Given the description of an element on the screen output the (x, y) to click on. 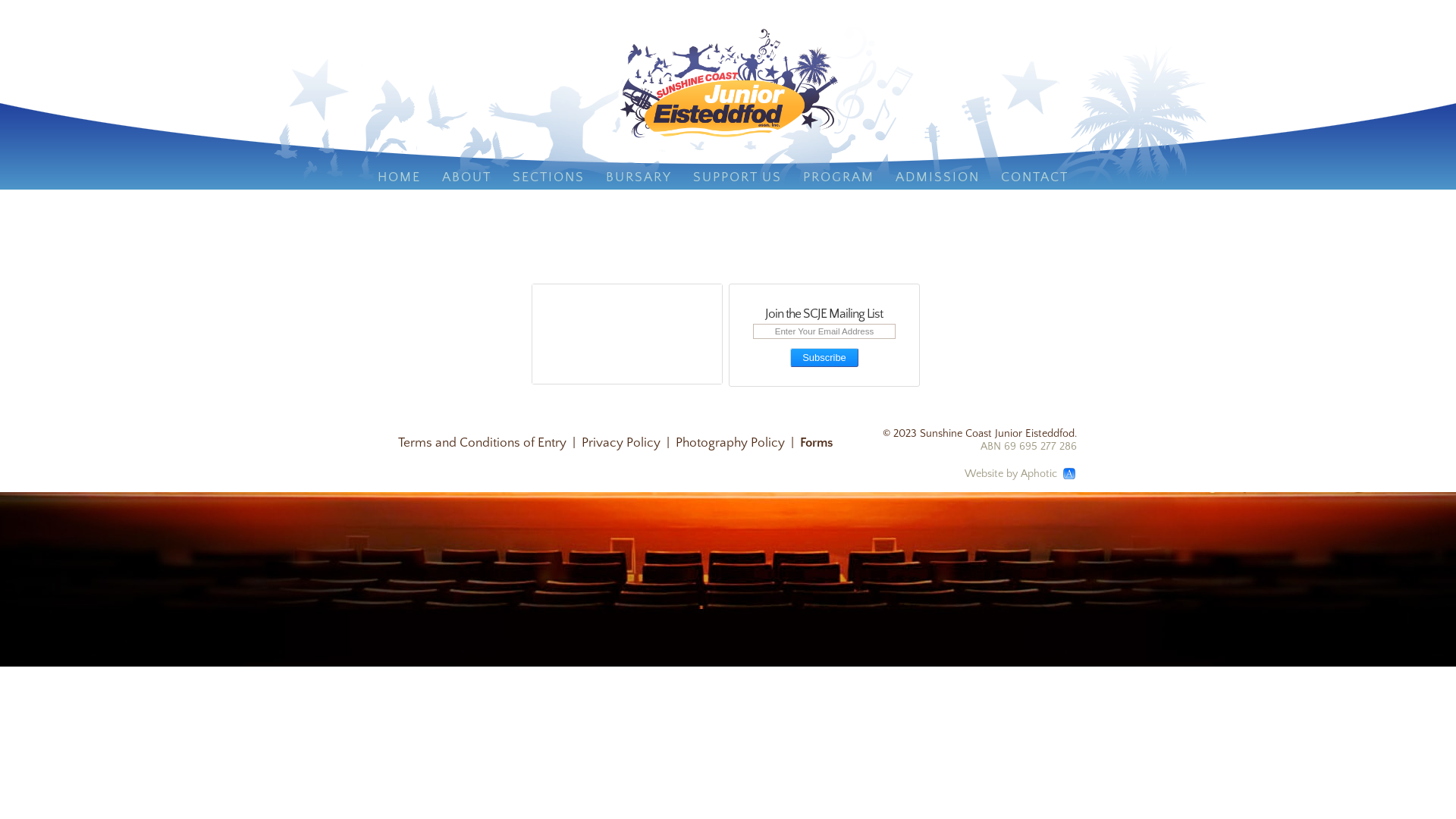
CONTACT Element type: text (1034, 179)
Forms Element type: text (816, 442)
[A] Element type: text (1069, 473)
Privacy Policy Element type: text (620, 442)
BURSARY Element type: text (638, 179)
HOME Element type: text (398, 179)
SUNSHINE COAST JUNIOR EISTEDDFOD Element type: text (727, 83)
SECTIONS Element type: text (548, 179)
Subscribe Element type: text (824, 357)
Terms and Conditions of Entry Element type: text (482, 442)
ABOUT Element type: text (465, 179)
SUPPORT US Element type: text (737, 179)
ADMISSION Element type: text (936, 179)
Photography Policy Element type: text (729, 442)
PROGRAM Element type: text (837, 179)
